Given the description of an element on the screen output the (x, y) to click on. 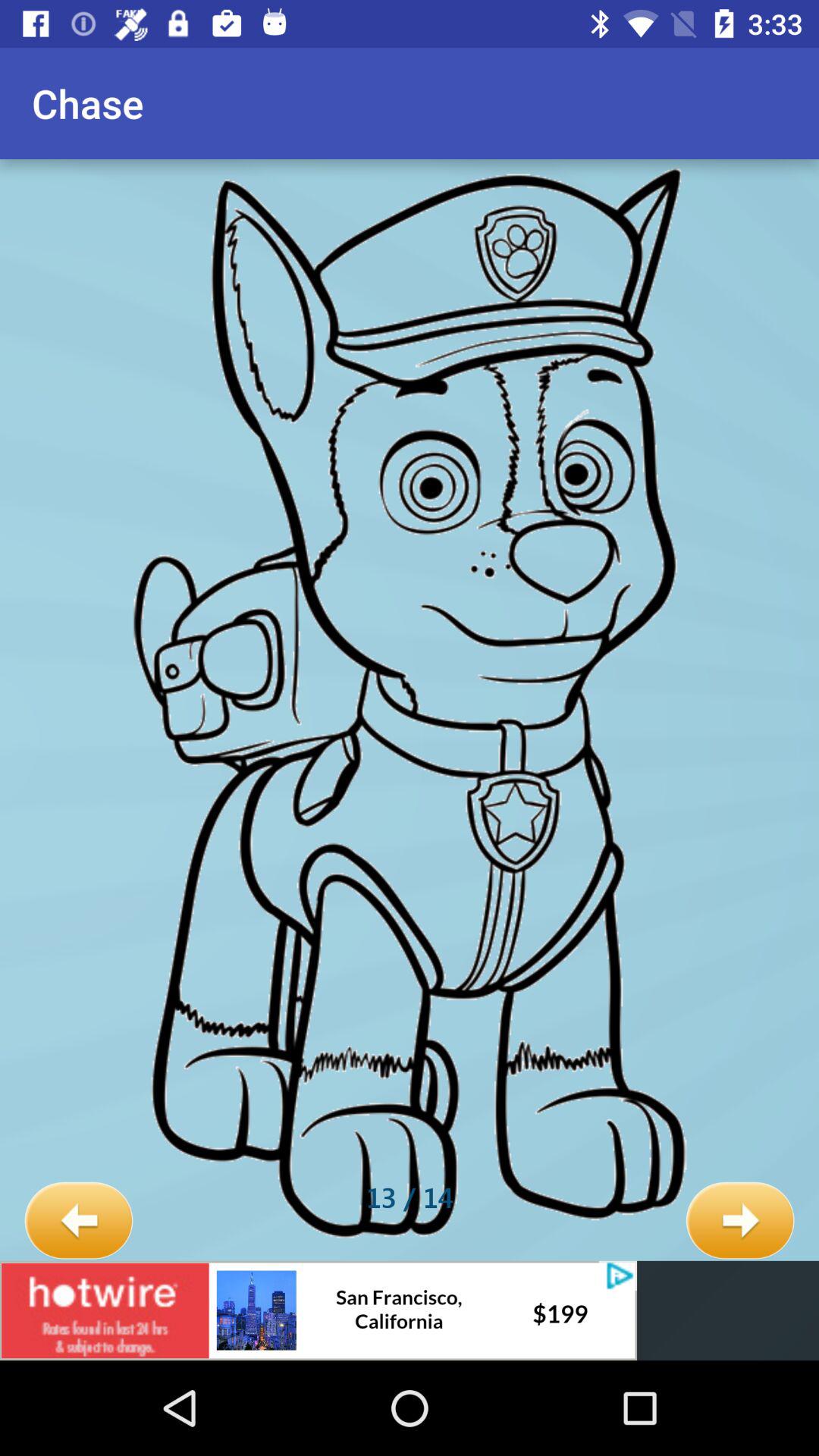
open item to the left of 13 / 14 item (78, 1220)
